Given the description of an element on the screen output the (x, y) to click on. 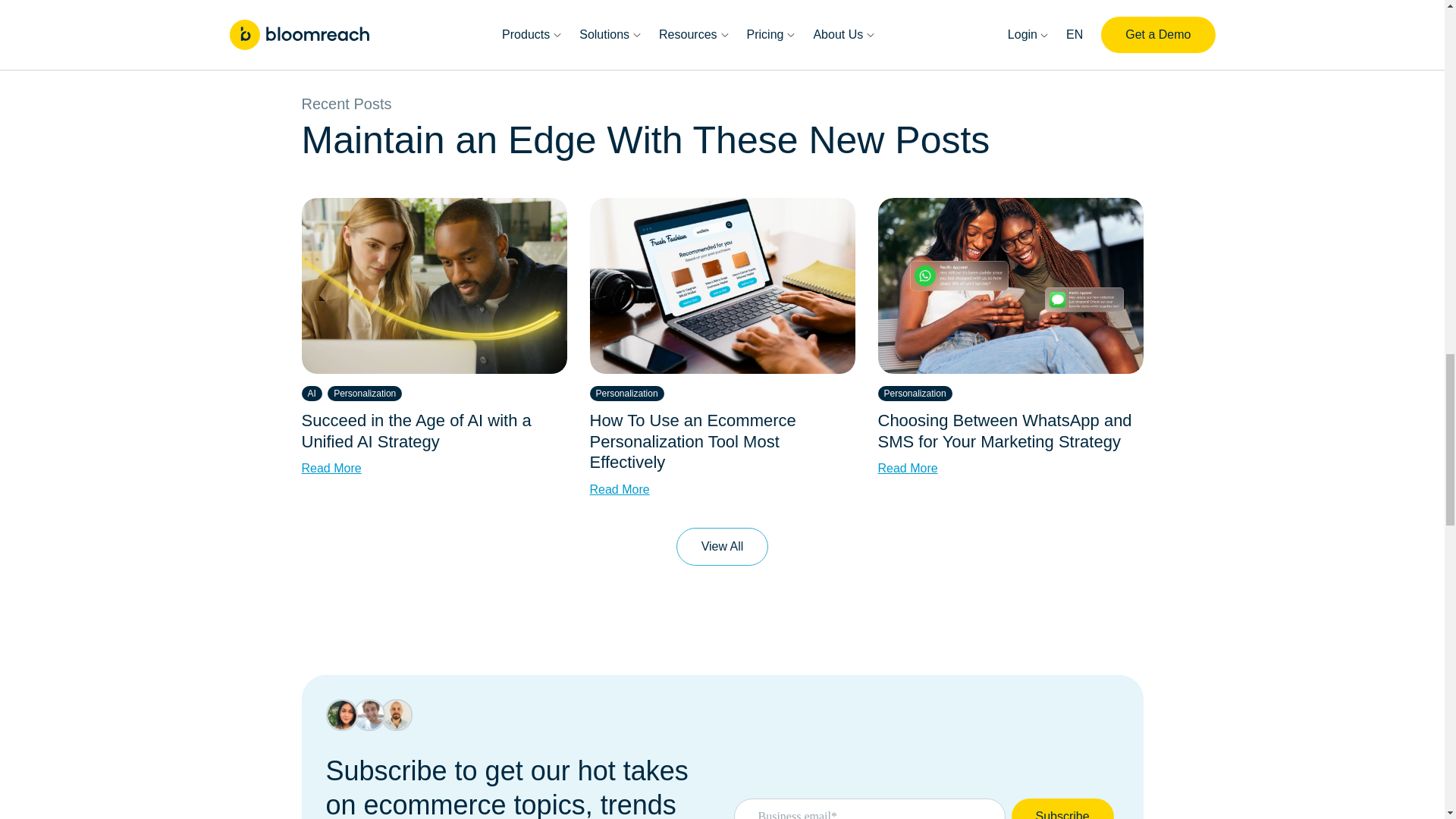
Subscribe (1062, 808)
